Given the description of an element on the screen output the (x, y) to click on. 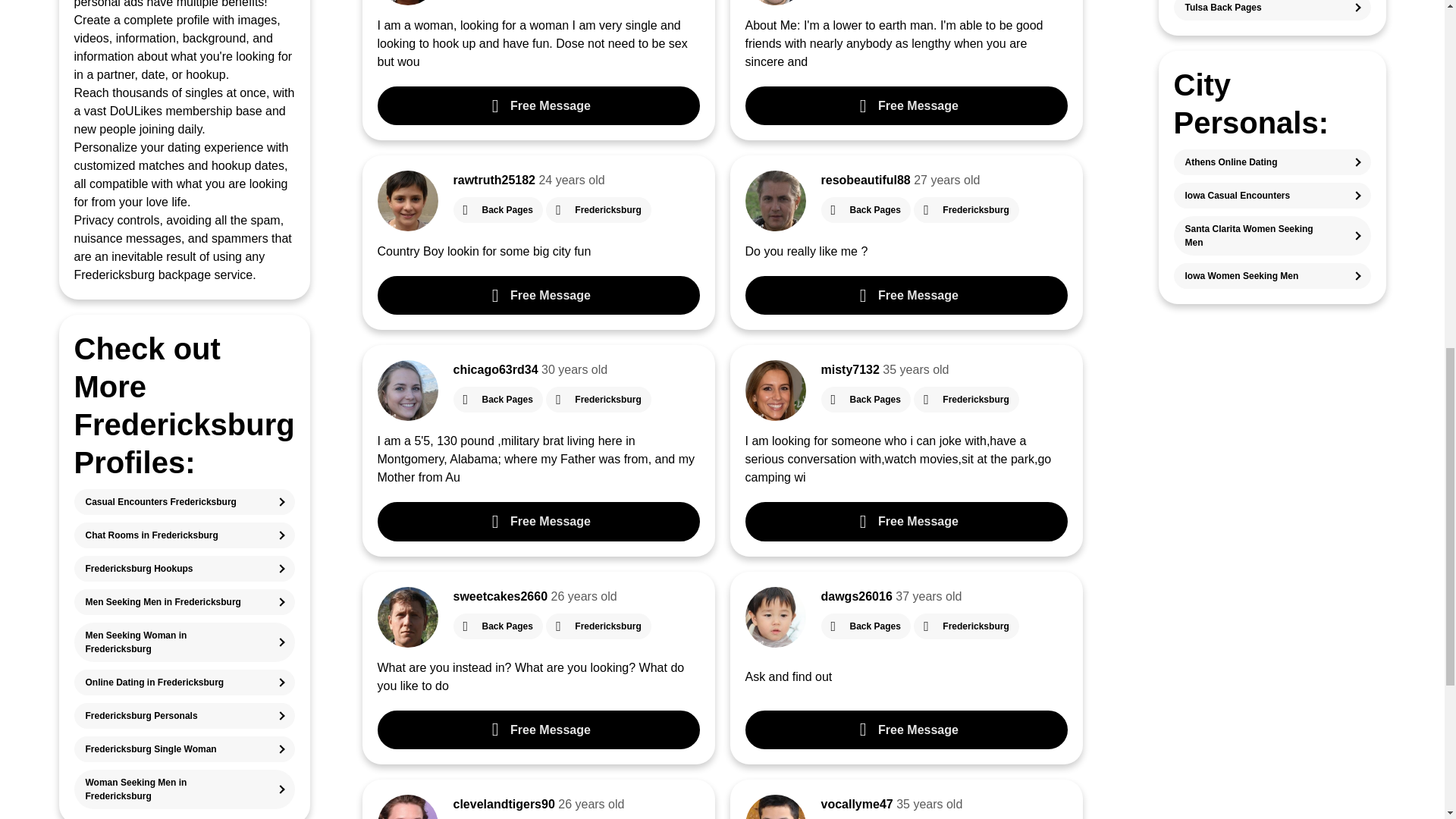
Free Message (538, 521)
chicago63rd34 (495, 369)
sweetcakes2660 (500, 595)
resobeautiful88 (865, 179)
Free Message (538, 295)
Fredericksburg (965, 399)
Free Message (905, 295)
Free Message (905, 521)
Fredericksburg (965, 209)
misty7132 (850, 369)
